Given the description of an element on the screen output the (x, y) to click on. 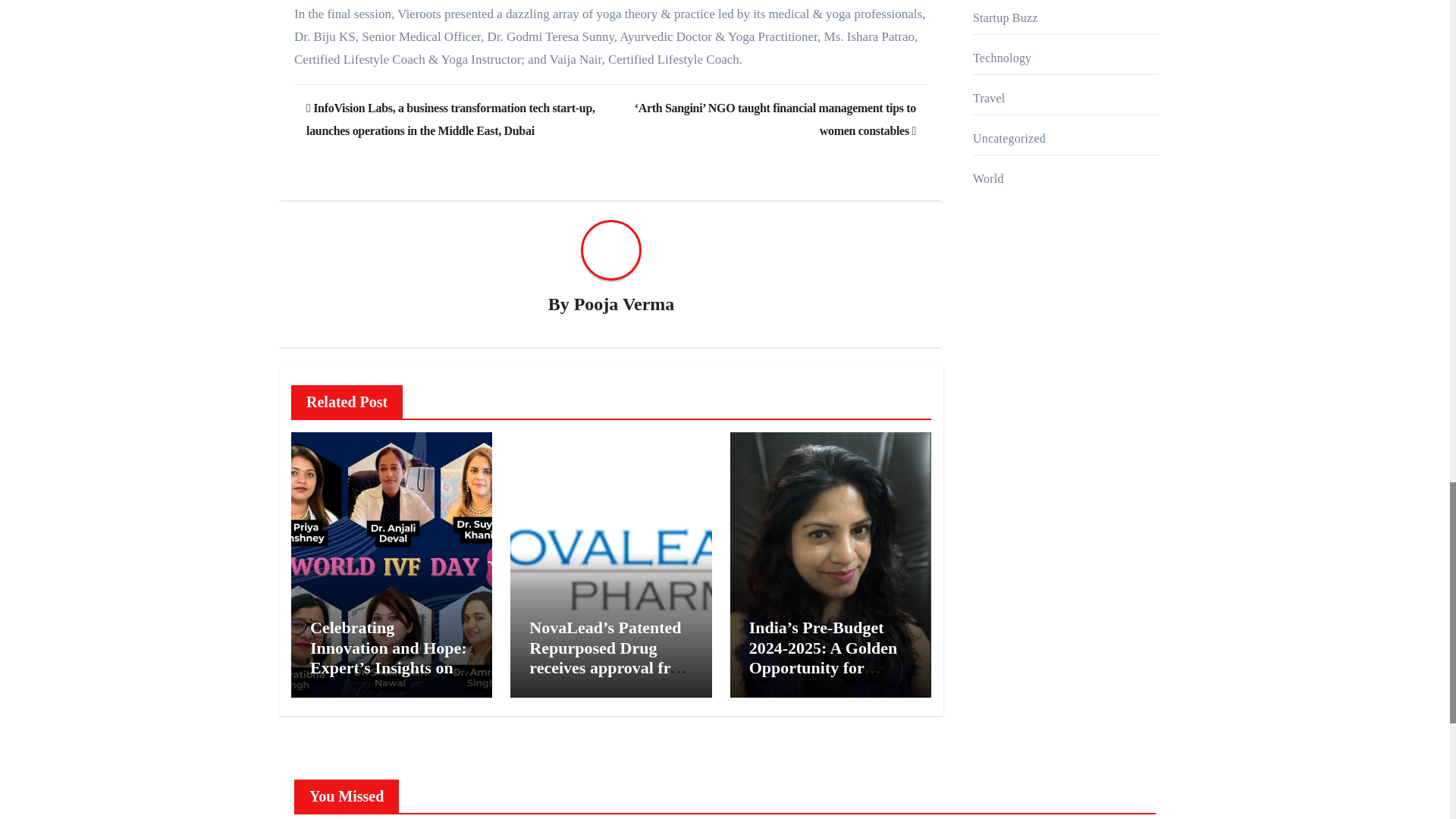
Pooja Verma (624, 303)
